Given the description of an element on the screen output the (x, y) to click on. 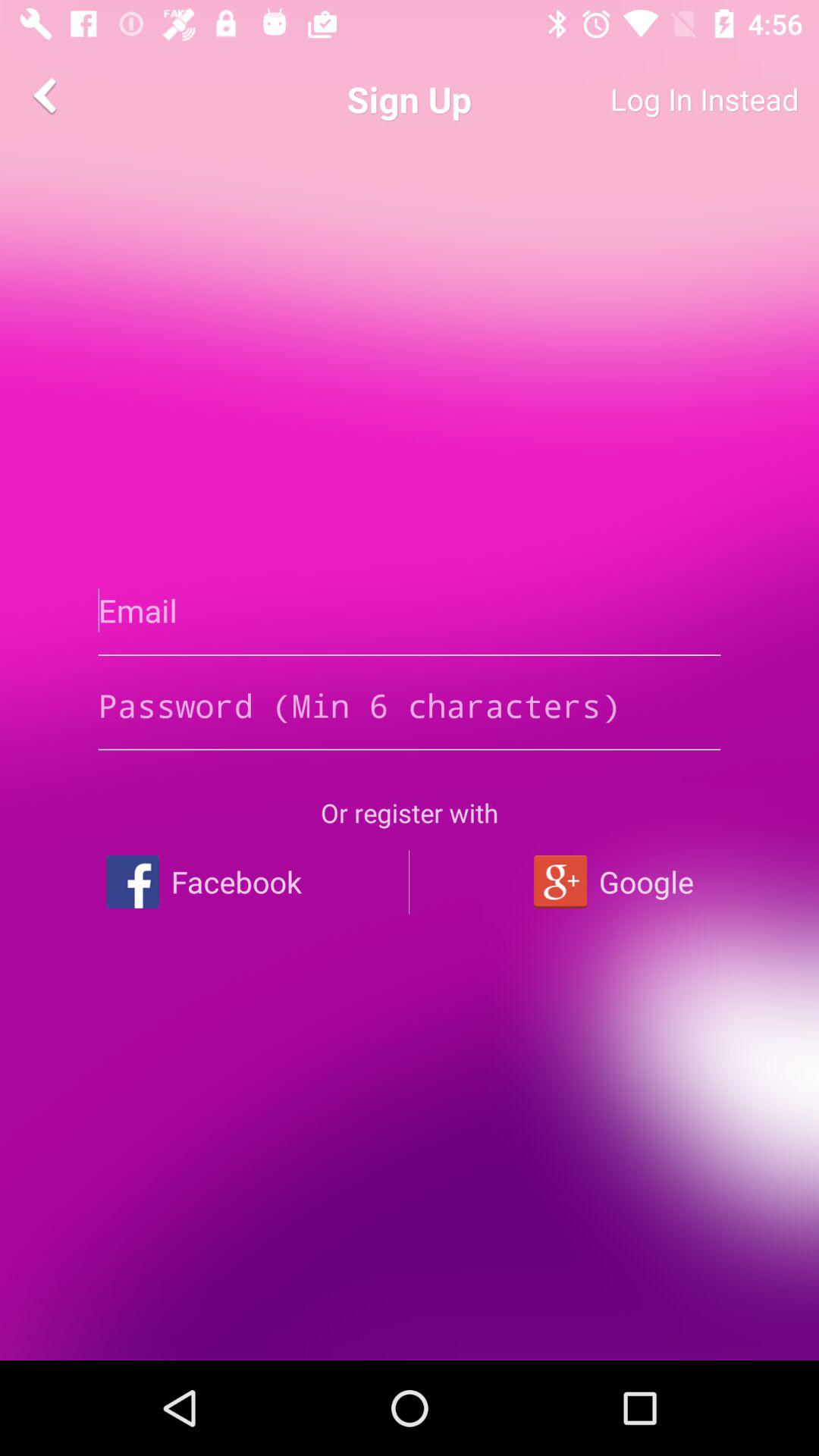
select app to the left of sign up (47, 95)
